Given the description of an element on the screen output the (x, y) to click on. 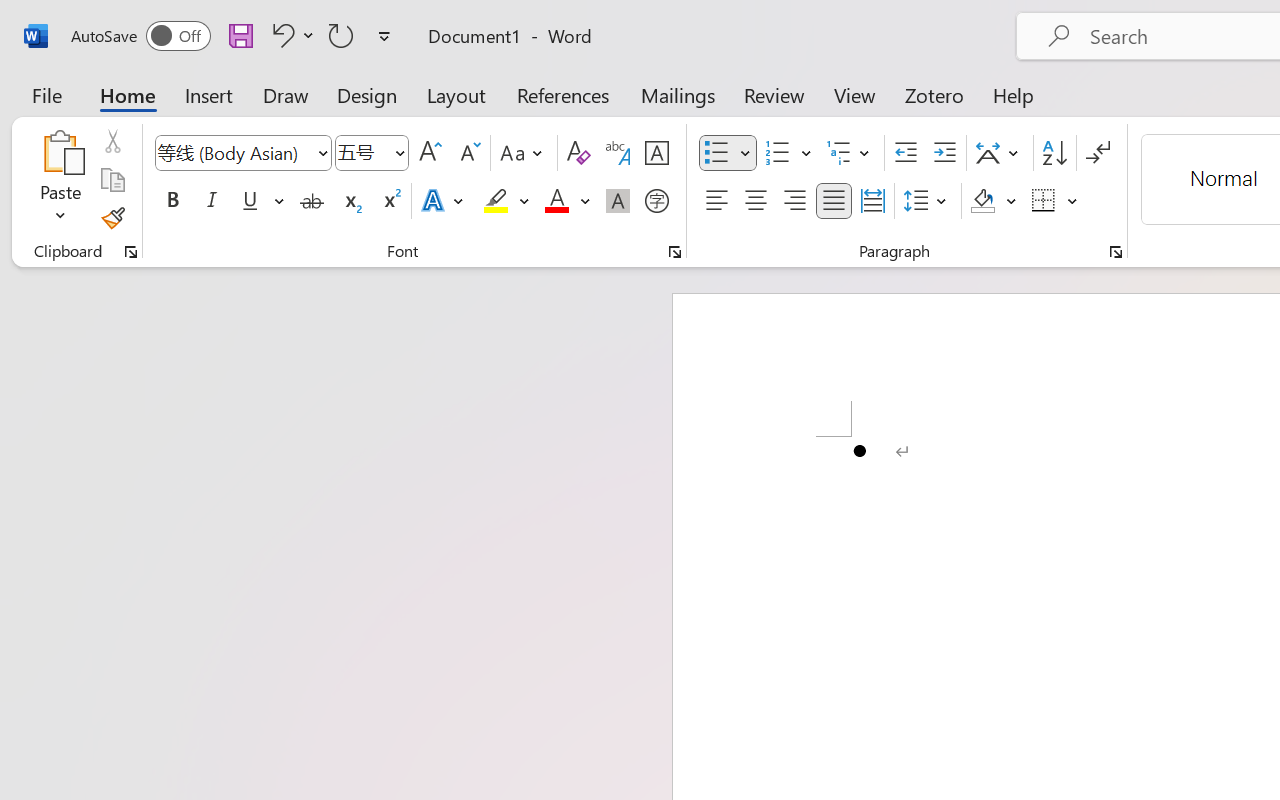
Repeat Bullet Default (341, 35)
